Given the description of an element on the screen output the (x, y) to click on. 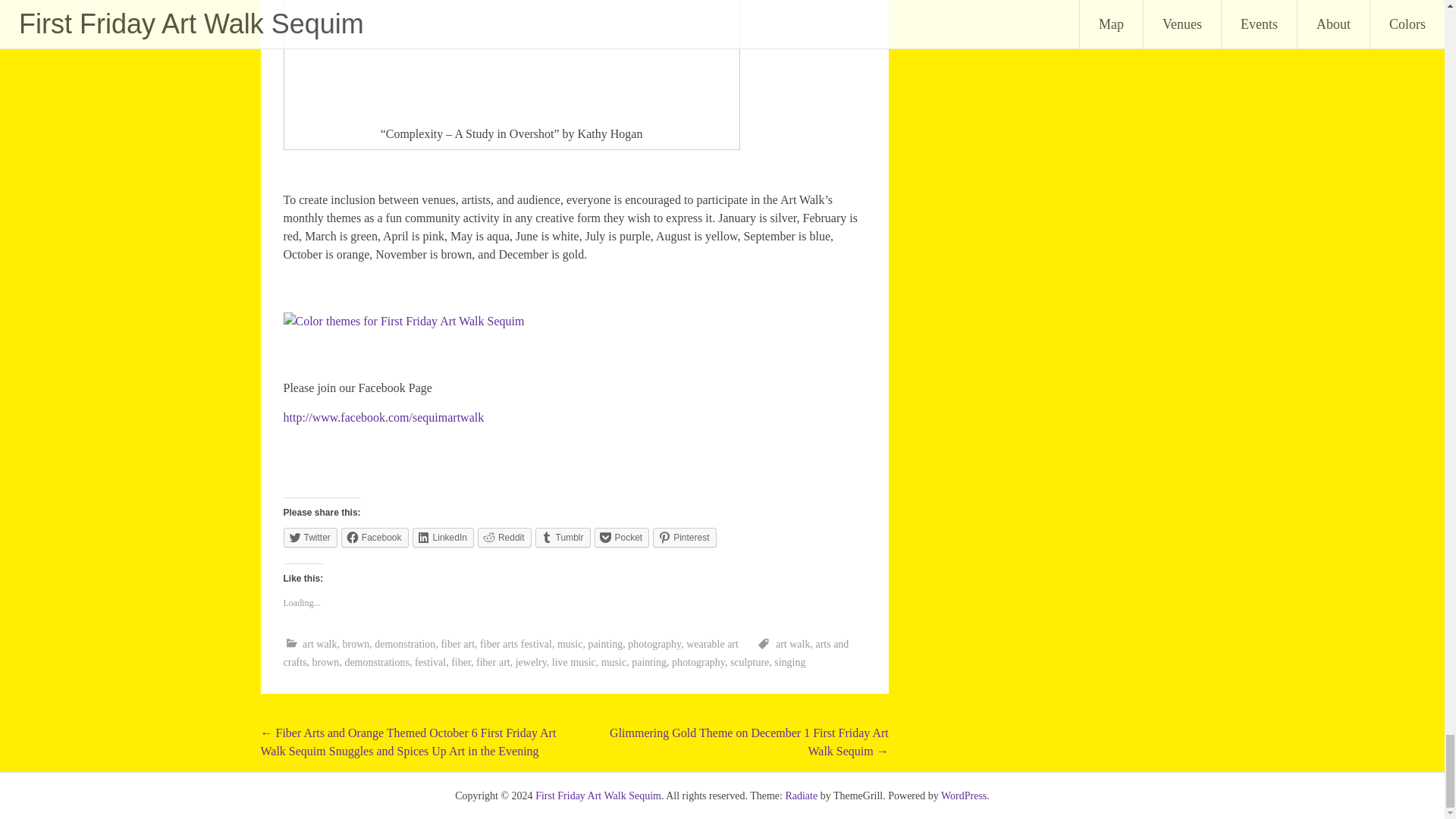
Tumblr (563, 537)
fiber arts festival (515, 644)
Click to share on Twitter (310, 537)
Click to share on Pocket (621, 537)
Click to share on LinkedIn (443, 537)
Reddit (504, 537)
brown (355, 644)
Twitter (310, 537)
photography (654, 644)
painting (605, 644)
